Given the description of an element on the screen output the (x, y) to click on. 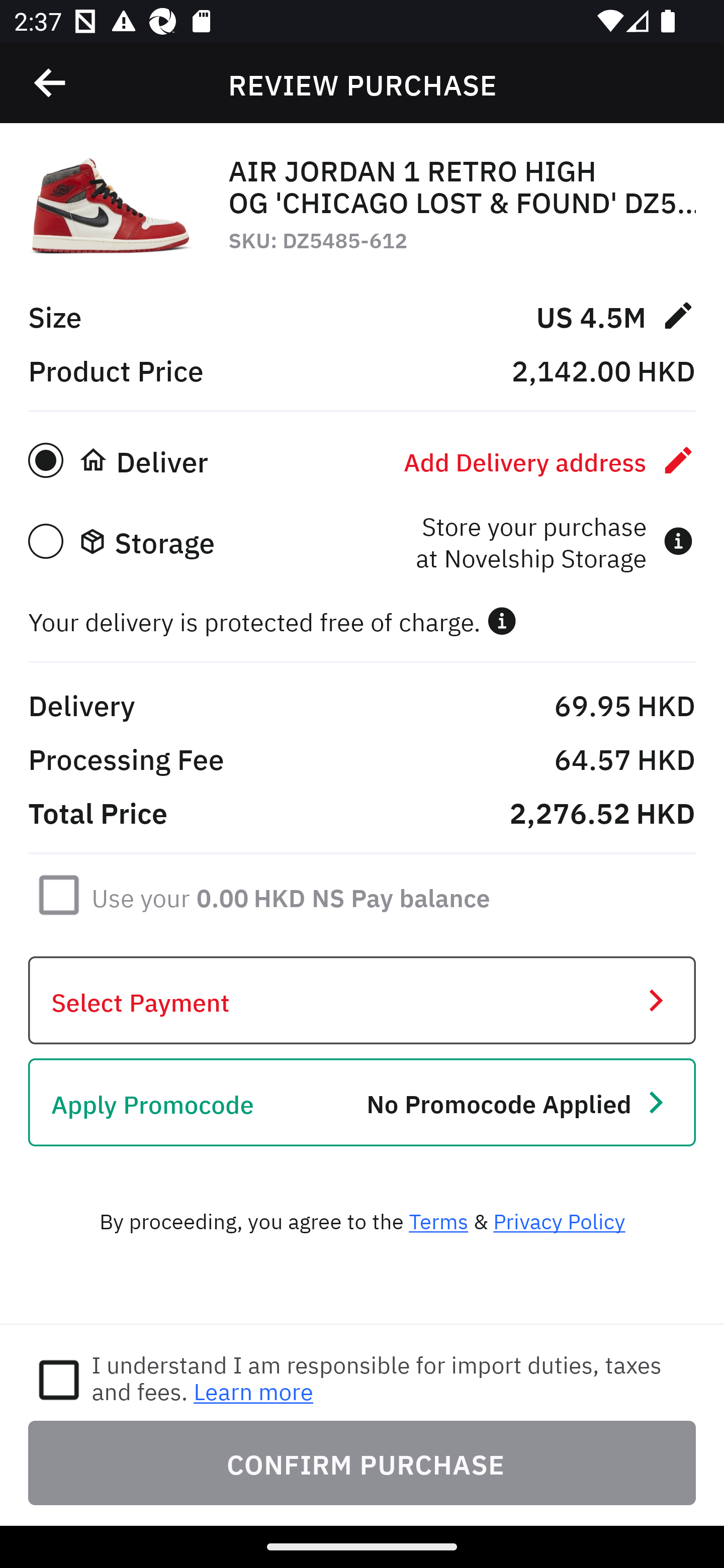
 (50, 83)
US 4.5M 󰏫 (615, 314)
󰚡 Deliver Add Delivery address 󰏫 (361, 459)
Add Delivery address 󰏫 (549, 460)
Store your purchase
at Novelship Storage  (554, 540)
 (501, 620)
Use your 0.00 HKD NS Pay balance (290, 894)
Select Payment  (361, 1000)
Apply Promocode No Promocode Applied  (361, 1102)
 CONFIRM PURCHASE (361, 1462)
